Given the description of an element on the screen output the (x, y) to click on. 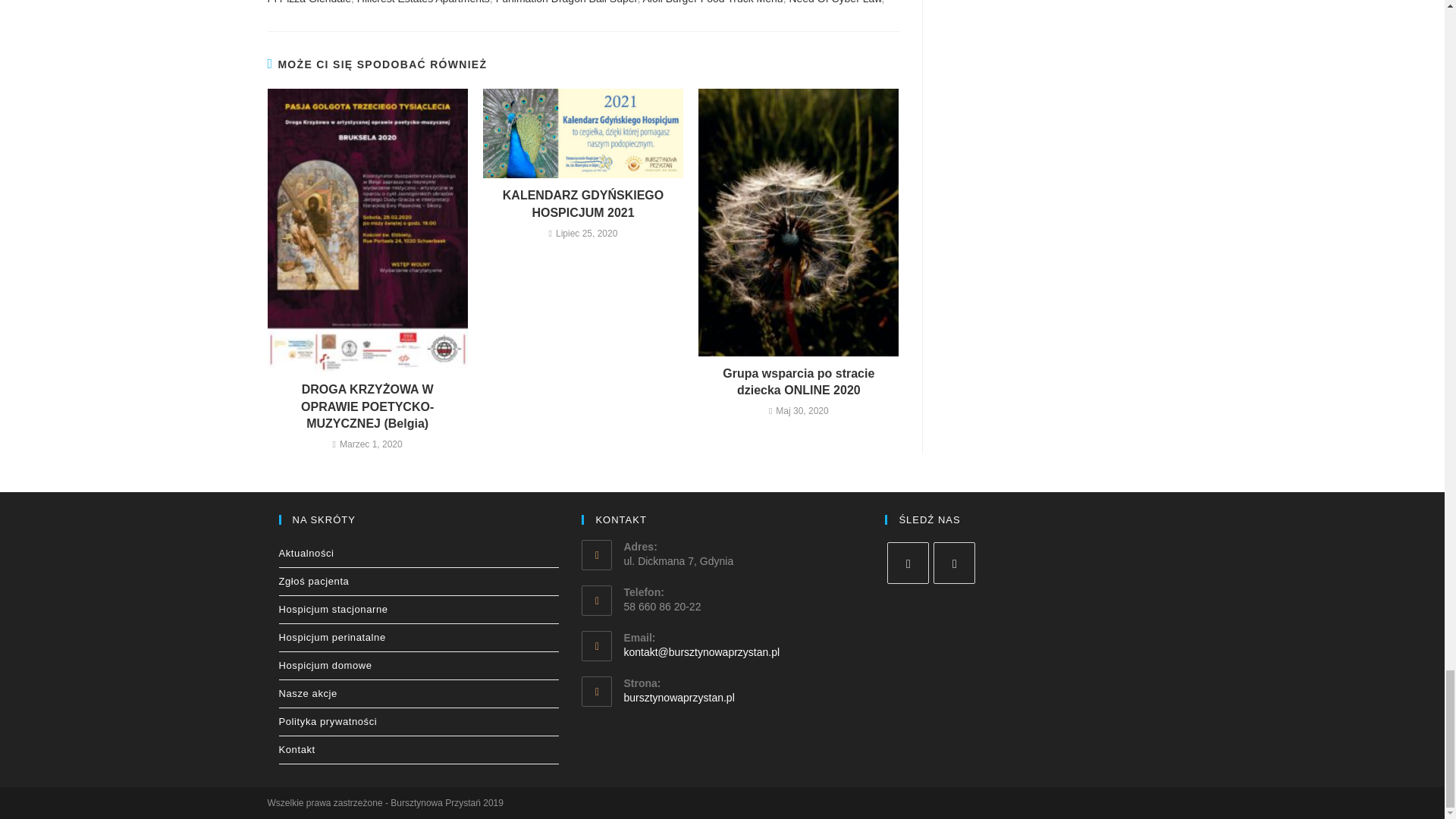
Aioli Burger Food Truck Menu (712, 2)
Funimation Dragon Ball Super (566, 2)
Grupa wsparcia po stracie dziecka ONLINE 2020 (798, 382)
Youtube (954, 562)
Hillcrest Estates Apartments (422, 2)
Grupa wsparcia po stracie dziecka ONLINE 2020 (798, 382)
Facebook (907, 562)
Pi Pizza Glendale (308, 2)
Need Of Cyber Law (834, 2)
